Given the description of an element on the screen output the (x, y) to click on. 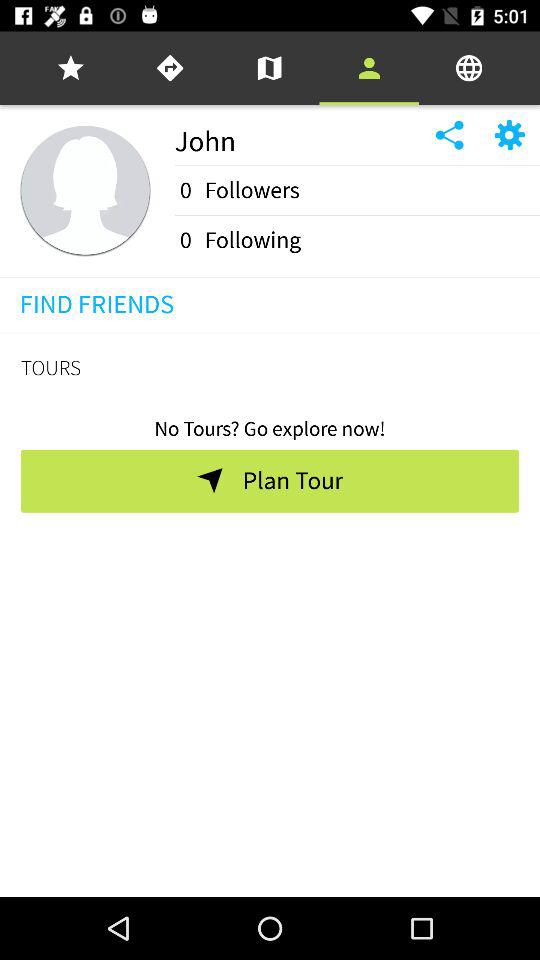
tap the icon below no tours go item (292, 481)
